Given the description of an element on the screen output the (x, y) to click on. 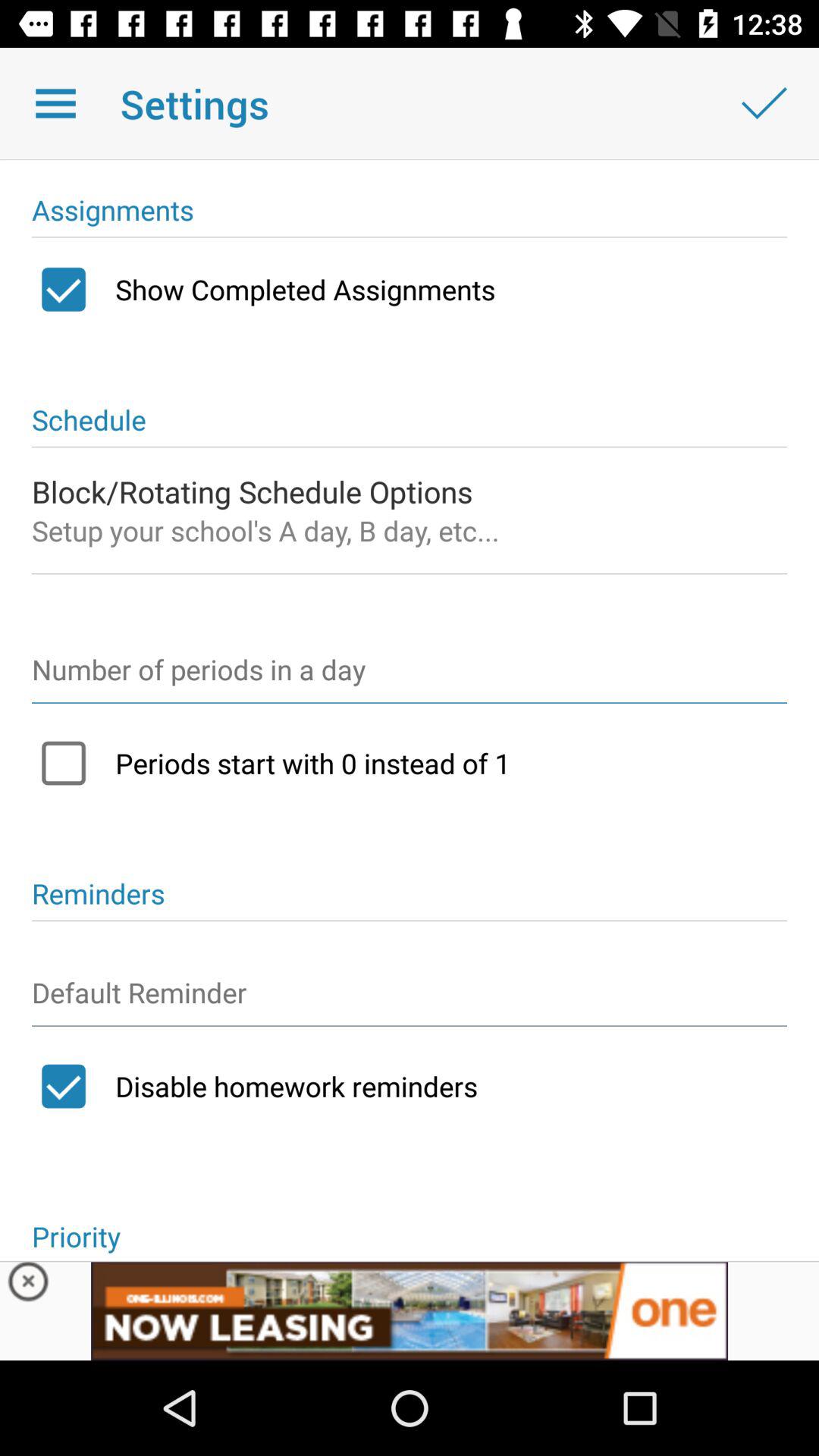
advertisement page (409, 1310)
